Given the description of an element on the screen output the (x, y) to click on. 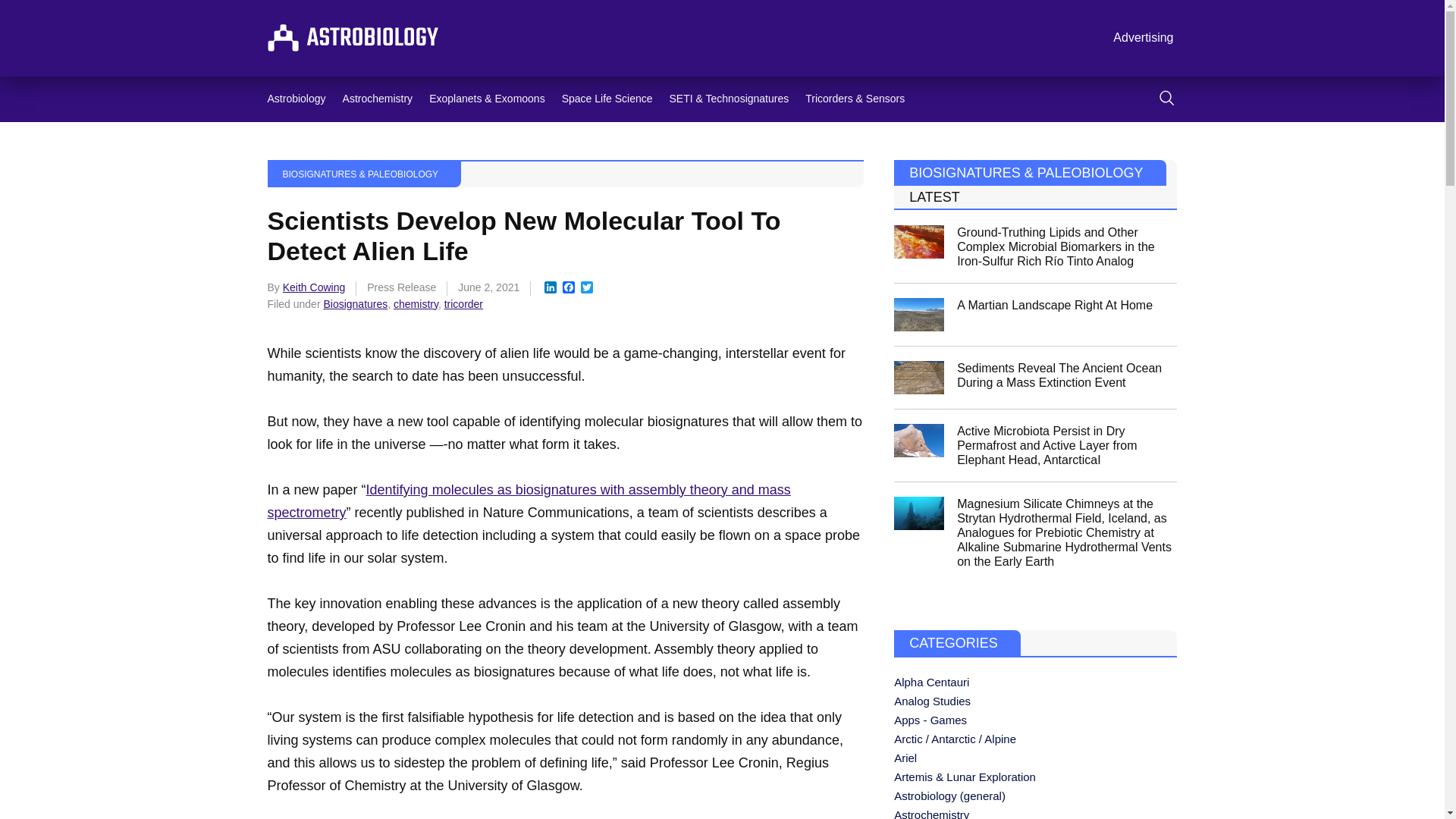
Facebook (568, 288)
Twitter (586, 288)
Biosignatures (355, 304)
LinkedIn (550, 288)
Astrobiology (295, 98)
tricorder (463, 304)
Astrochemistry (377, 98)
chemistry (415, 304)
Advertising (1142, 37)
Twitter (586, 288)
LinkedIn (550, 288)
Keith Cowing (314, 287)
Facebook (568, 288)
Space Life Science (607, 98)
